Given the description of an element on the screen output the (x, y) to click on. 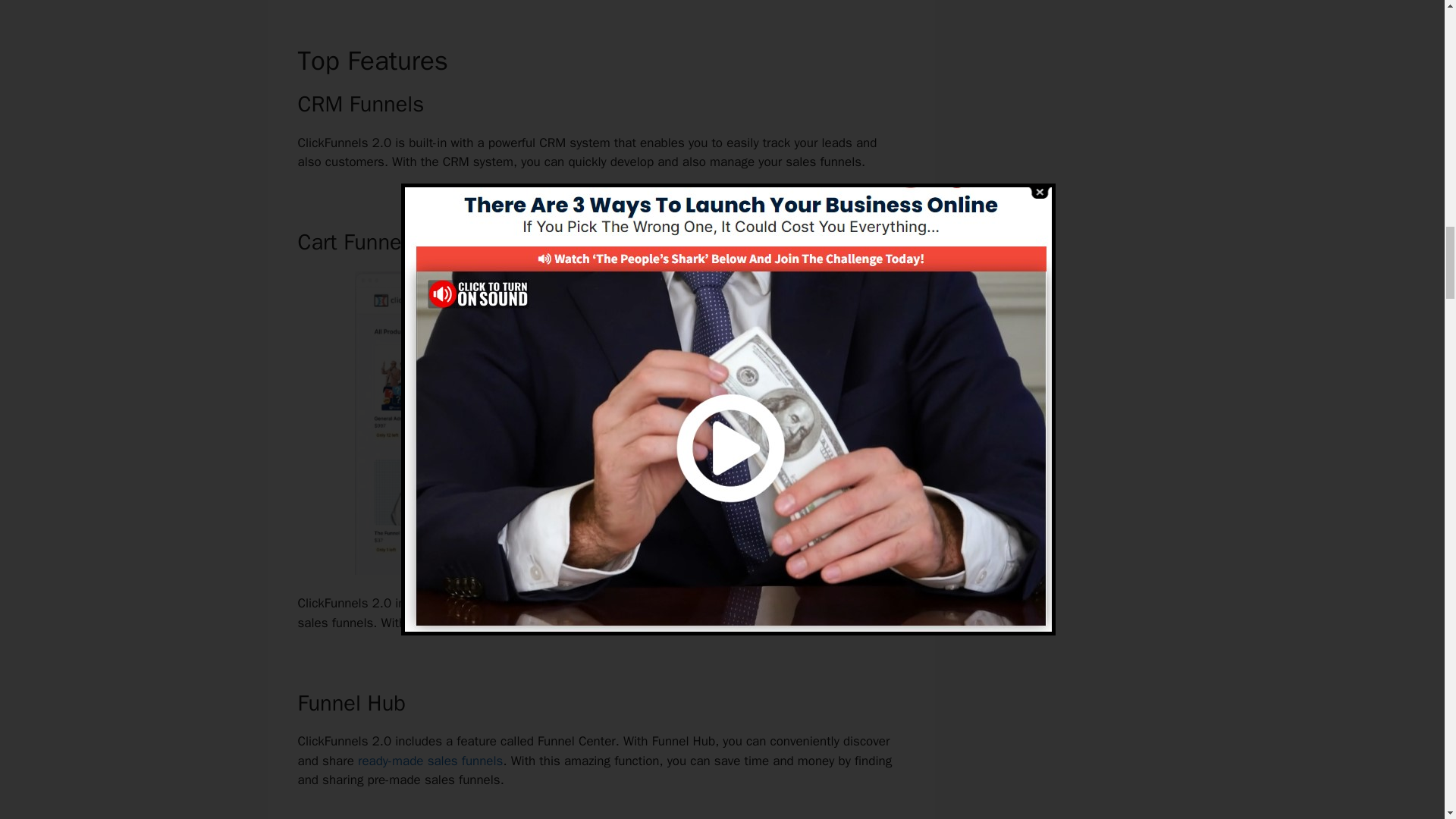
ready-made sales funnels (430, 760)
